Given the description of an element on the screen output the (x, y) to click on. 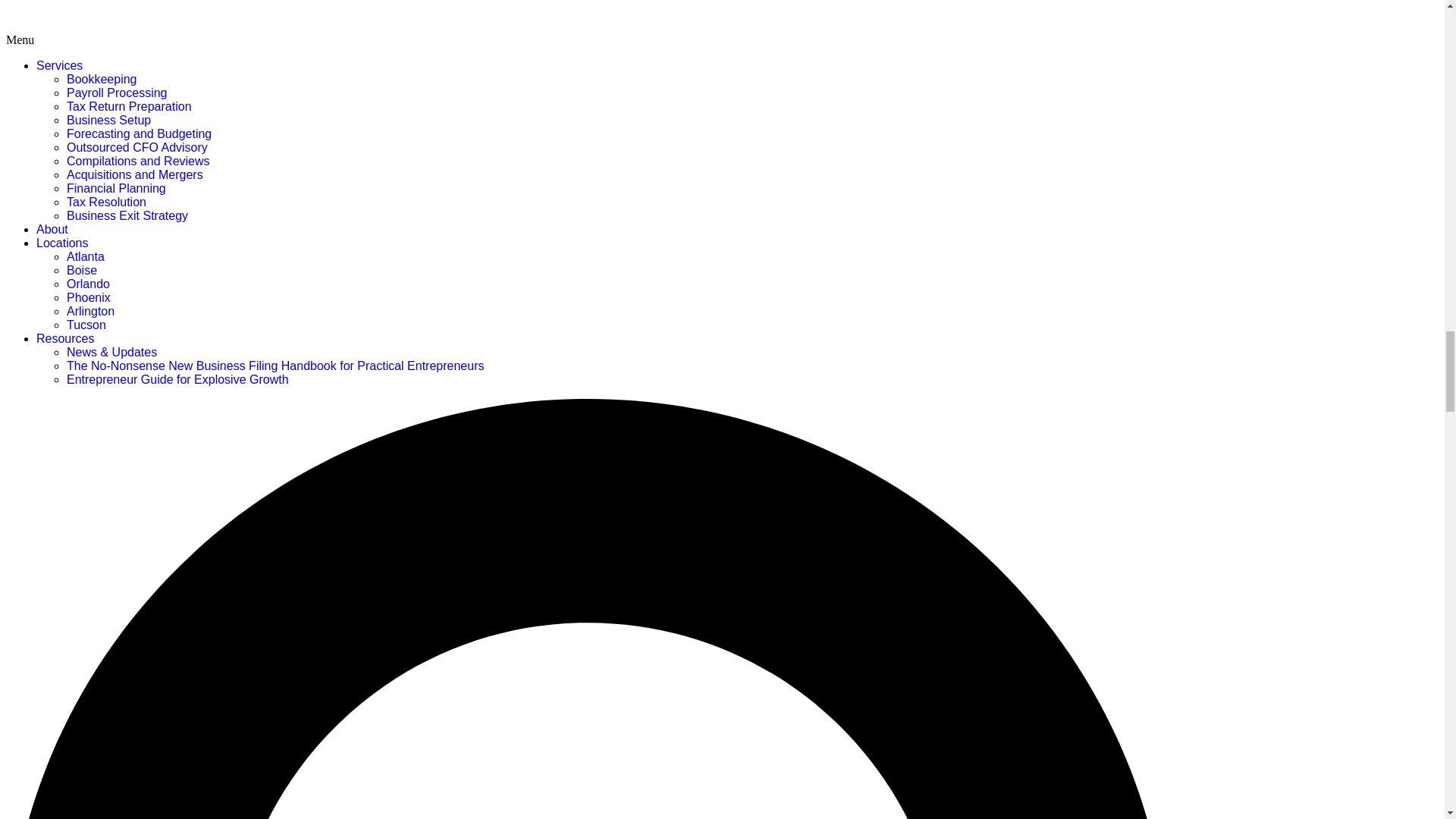
Financial Planning (115, 187)
Services (59, 65)
Payroll Processing (116, 92)
Acquisitions and Mergers (134, 174)
Compilations and Reviews (137, 160)
Tax Return Preparation (129, 106)
Outsourced CFO Advisory (137, 146)
Forecasting and Budgeting (138, 133)
Tax Resolution (106, 201)
About (52, 228)
Locations (62, 242)
Bookkeeping (101, 78)
Business Exit Strategy (126, 215)
Business Setup (108, 119)
